Given the description of an element on the screen output the (x, y) to click on. 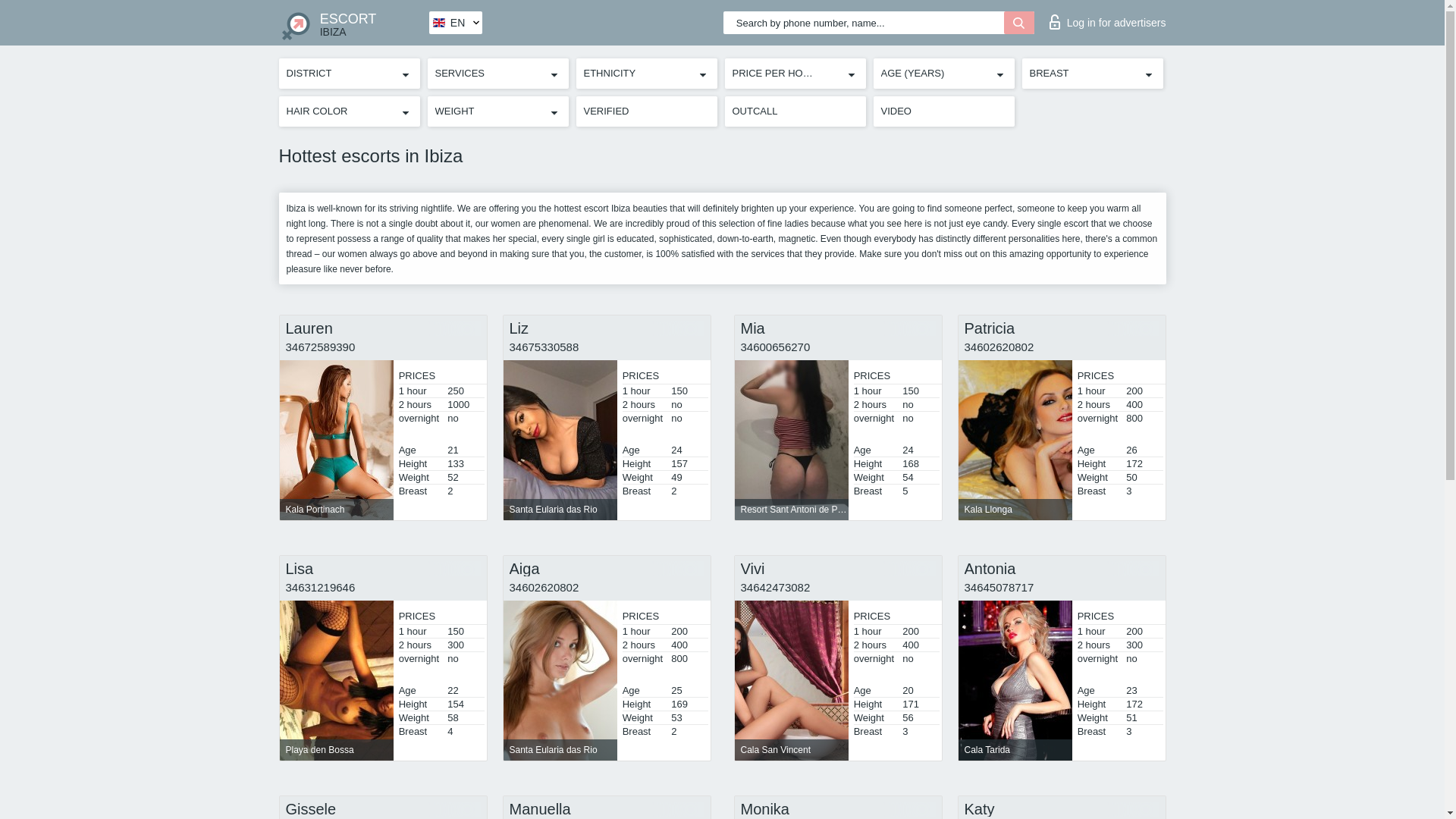
Log in for advertisers (1107, 17)
SERVICES (497, 73)
DISTRICT (352, 22)
